Given the description of an element on the screen output the (x, y) to click on. 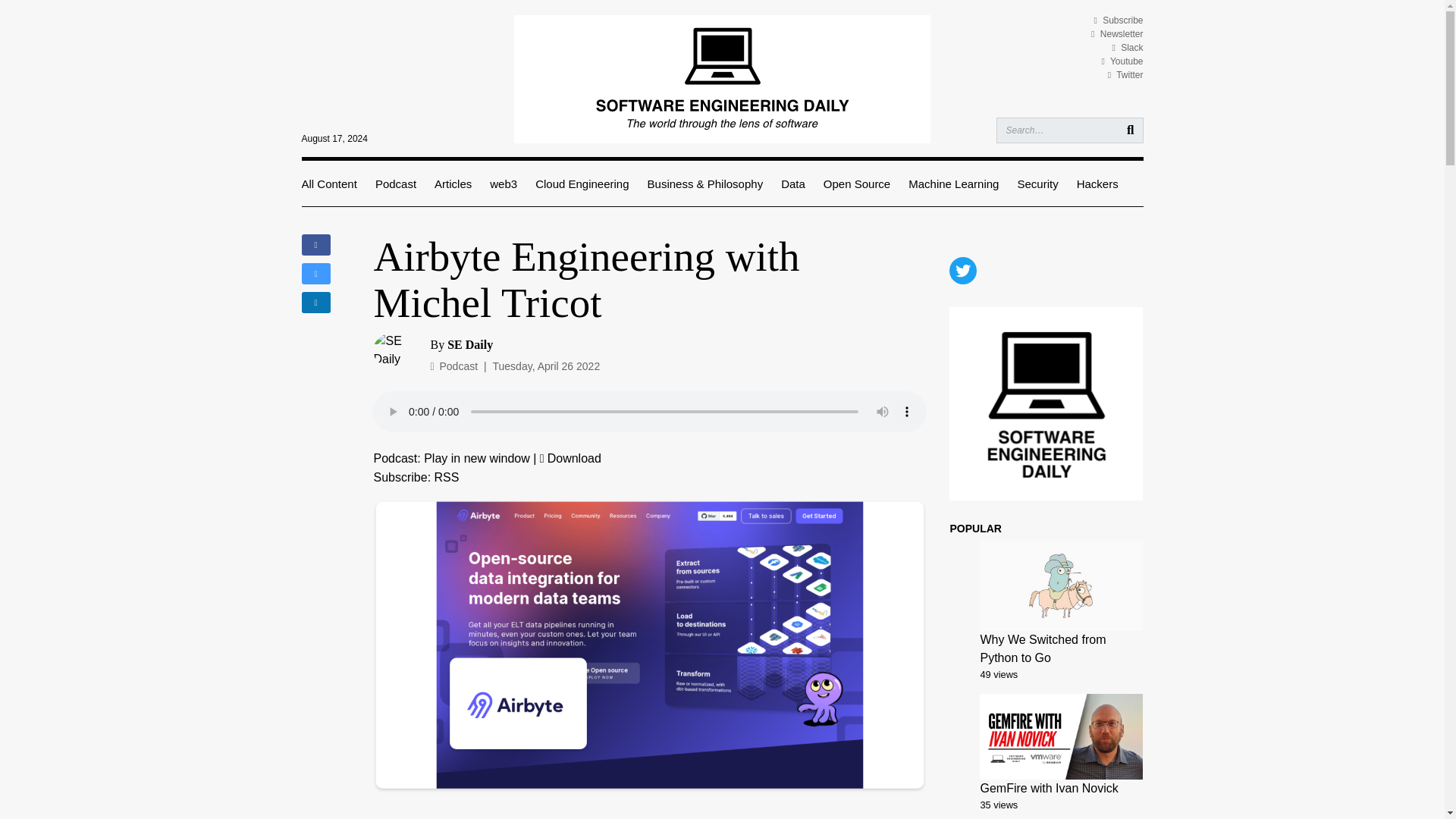
Search for: (1068, 130)
Machine Learning (953, 183)
Twitter (1125, 74)
RSS (446, 477)
Posts by SE Daily (469, 344)
Subscribe (1117, 20)
Slack (1127, 47)
Open Source (856, 183)
Download (570, 458)
Download (570, 458)
